Given the description of an element on the screen output the (x, y) to click on. 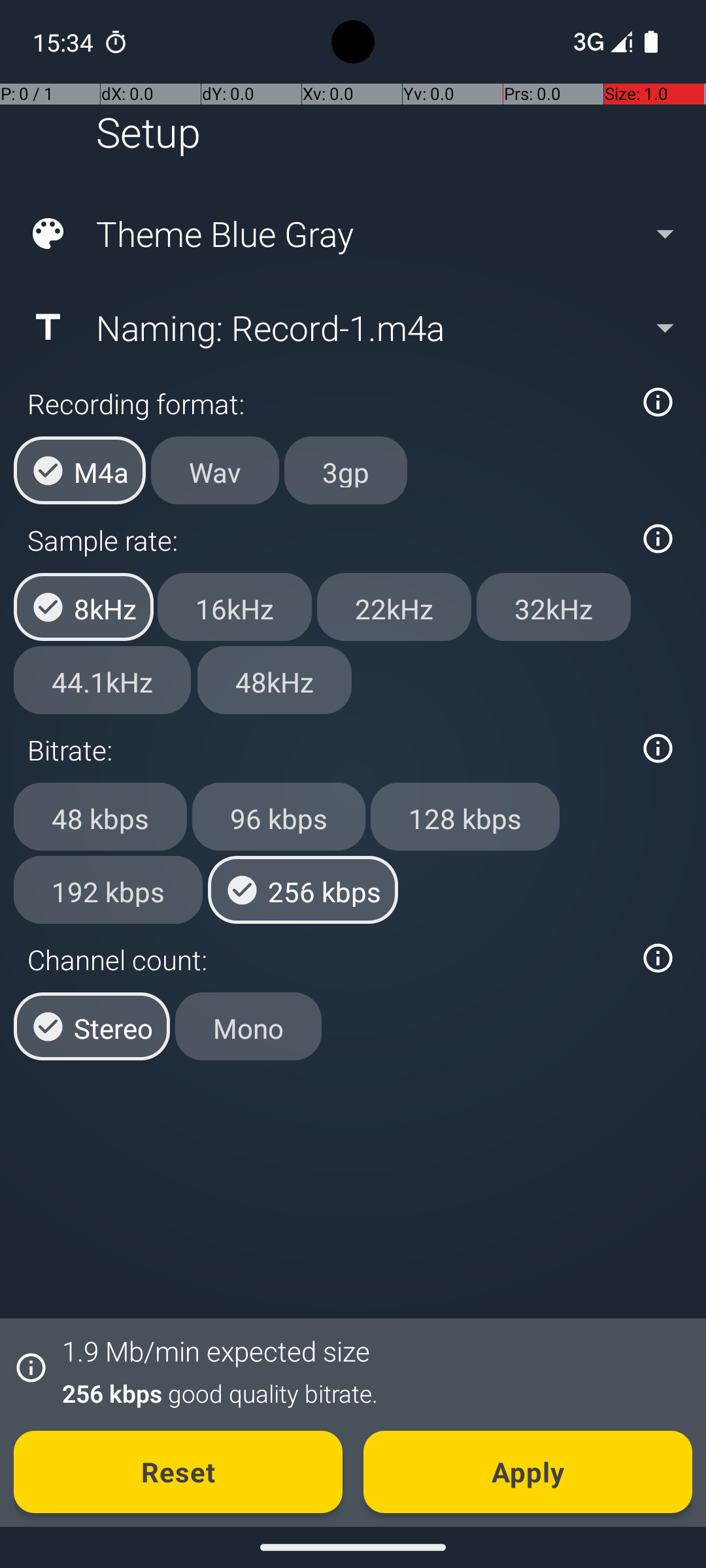
1.9 Mb/min expected size Element type: android.widget.TextView (215, 1350)
256 kbps good quality bitrate. Element type: android.widget.TextView (370, 1392)
